Given the description of an element on the screen output the (x, y) to click on. 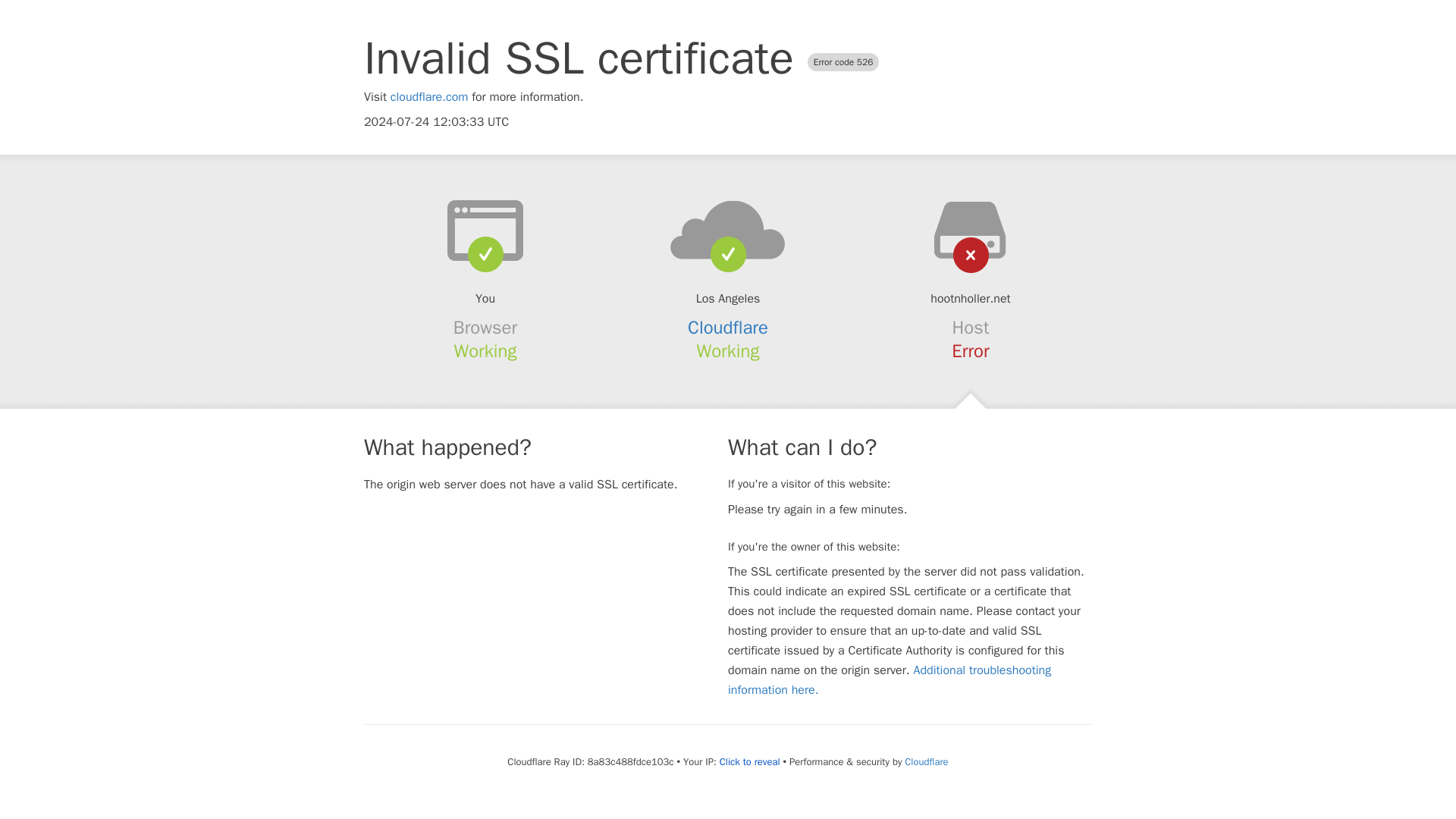
Cloudflare (925, 761)
Click to reveal (749, 762)
Cloudflare (727, 327)
Additional troubleshooting information here. (889, 679)
cloudflare.com (429, 96)
